Given the description of an element on the screen output the (x, y) to click on. 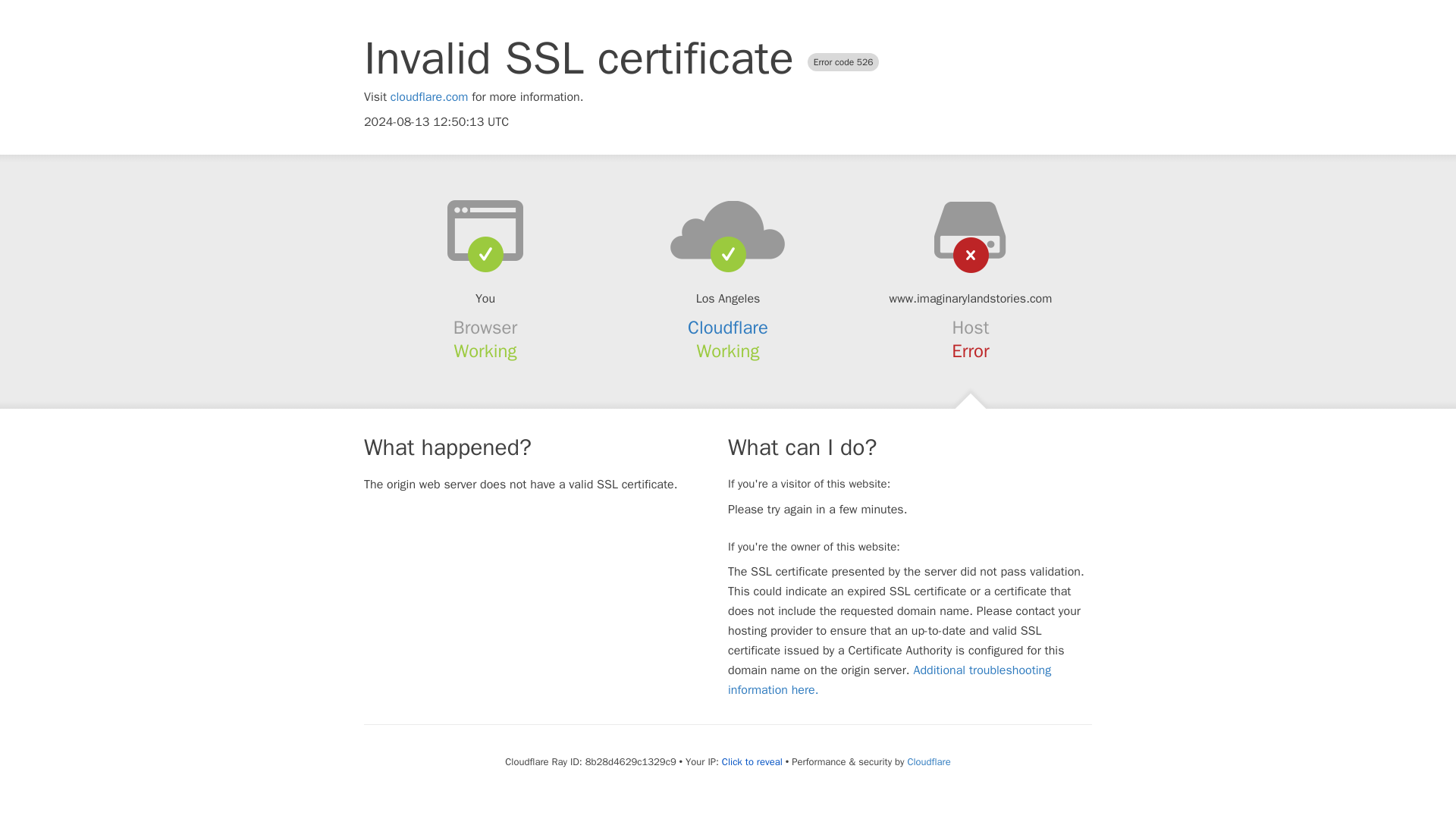
Cloudflare (727, 327)
Click to reveal (752, 762)
cloudflare.com (429, 96)
Additional troubleshooting information here. (889, 679)
Cloudflare (928, 761)
